Given the description of an element on the screen output the (x, y) to click on. 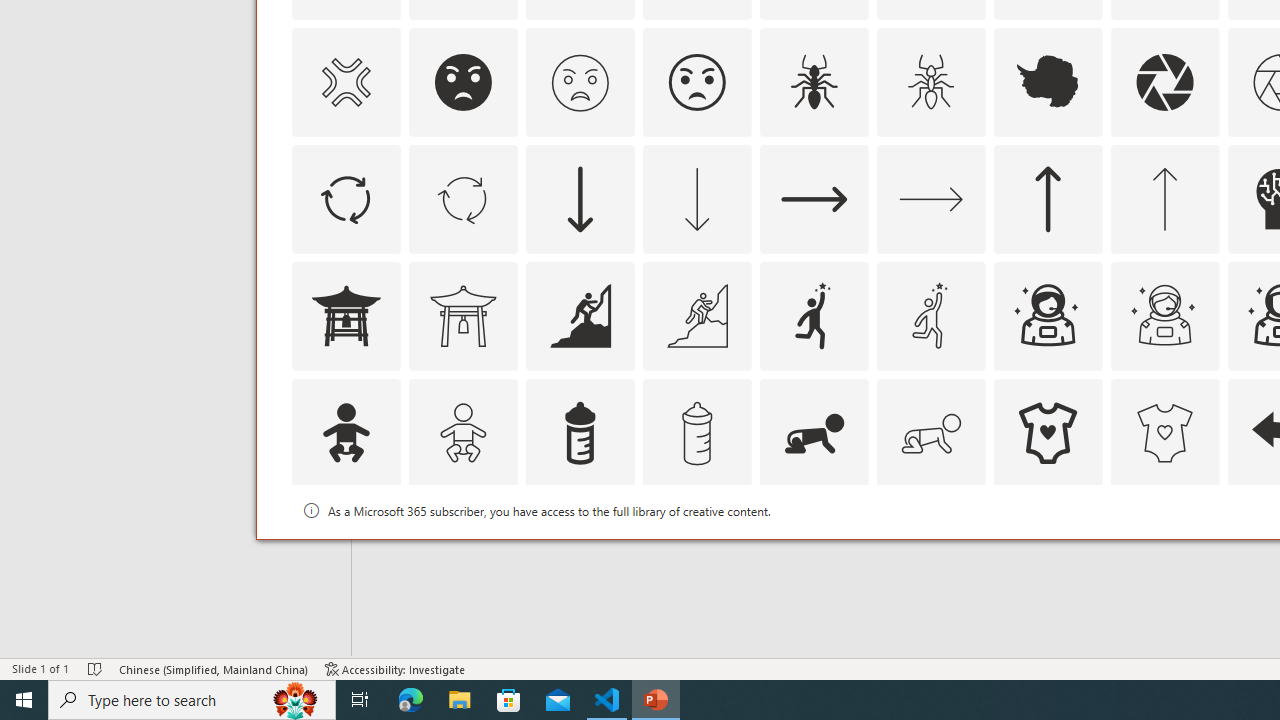
AutomationID: Icons_ArrowRight (813, 198)
AutomationID: Icons_BabyBottle_M (696, 432)
